Given the description of an element on the screen output the (x, y) to click on. 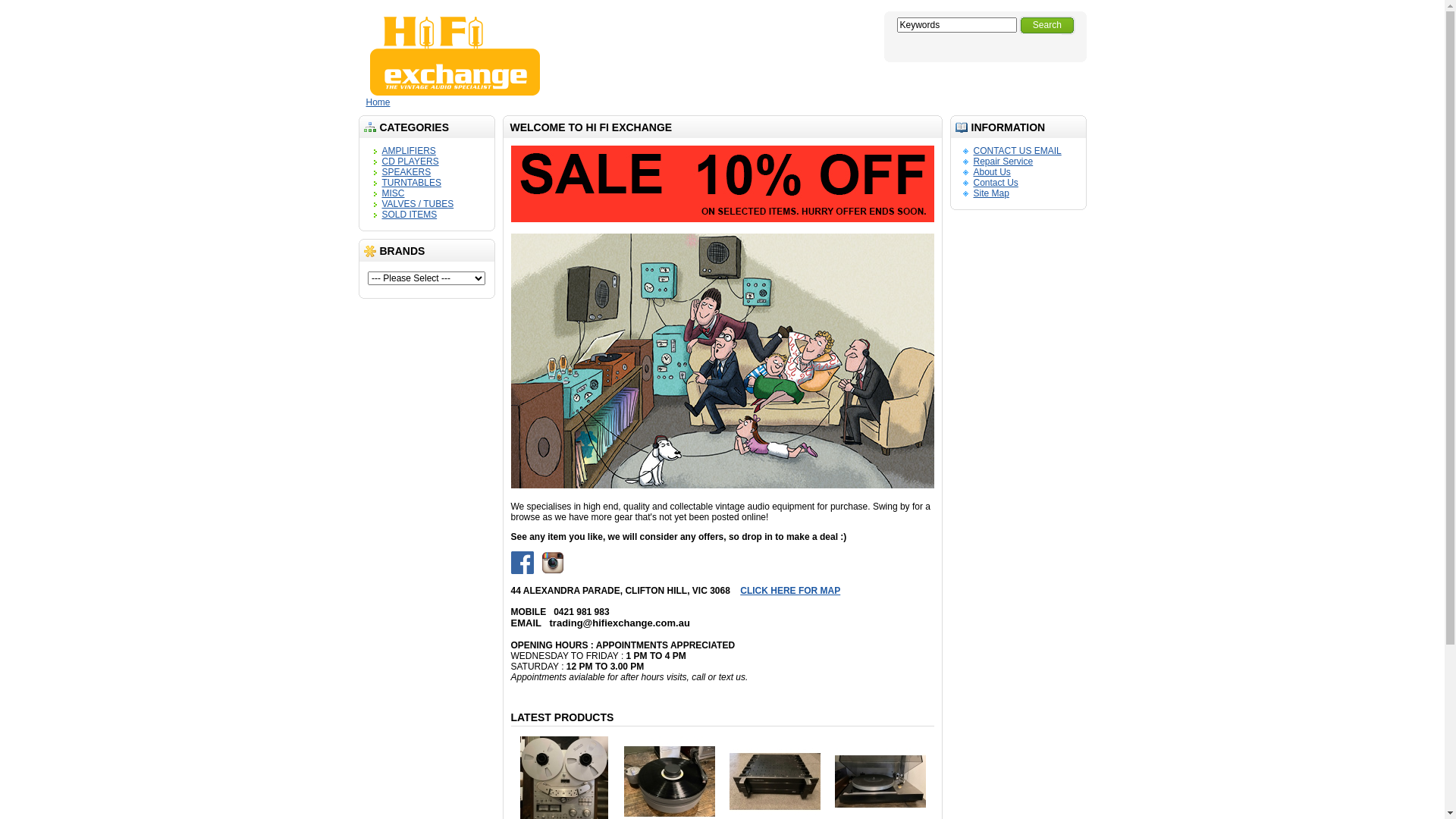
TURNTABLES Element type: text (411, 182)
MISC Element type: text (393, 193)
SPEAKERS Element type: text (406, 171)
AMPLIFIERS Element type: text (409, 150)
Keywords Element type: text (956, 24)
Hi Fi Exchange Element type: hover (454, 55)
Home Element type: text (377, 102)
About Us Element type: text (991, 171)
Contact Us Element type: text (995, 182)
Site Map Element type: text (991, 193)
CD PLAYERS Element type: text (410, 161)
Search Element type: text (1047, 24)
Repair Service Element type: text (1003, 161)
SOLD ITEMS Element type: text (409, 214)
CONTACT US EMAIL Element type: text (1017, 150)
CLICK HERE FOR MAP Element type: text (905, 595)
VALVES / TUBES Element type: text (418, 203)
